Given the description of an element on the screen output the (x, y) to click on. 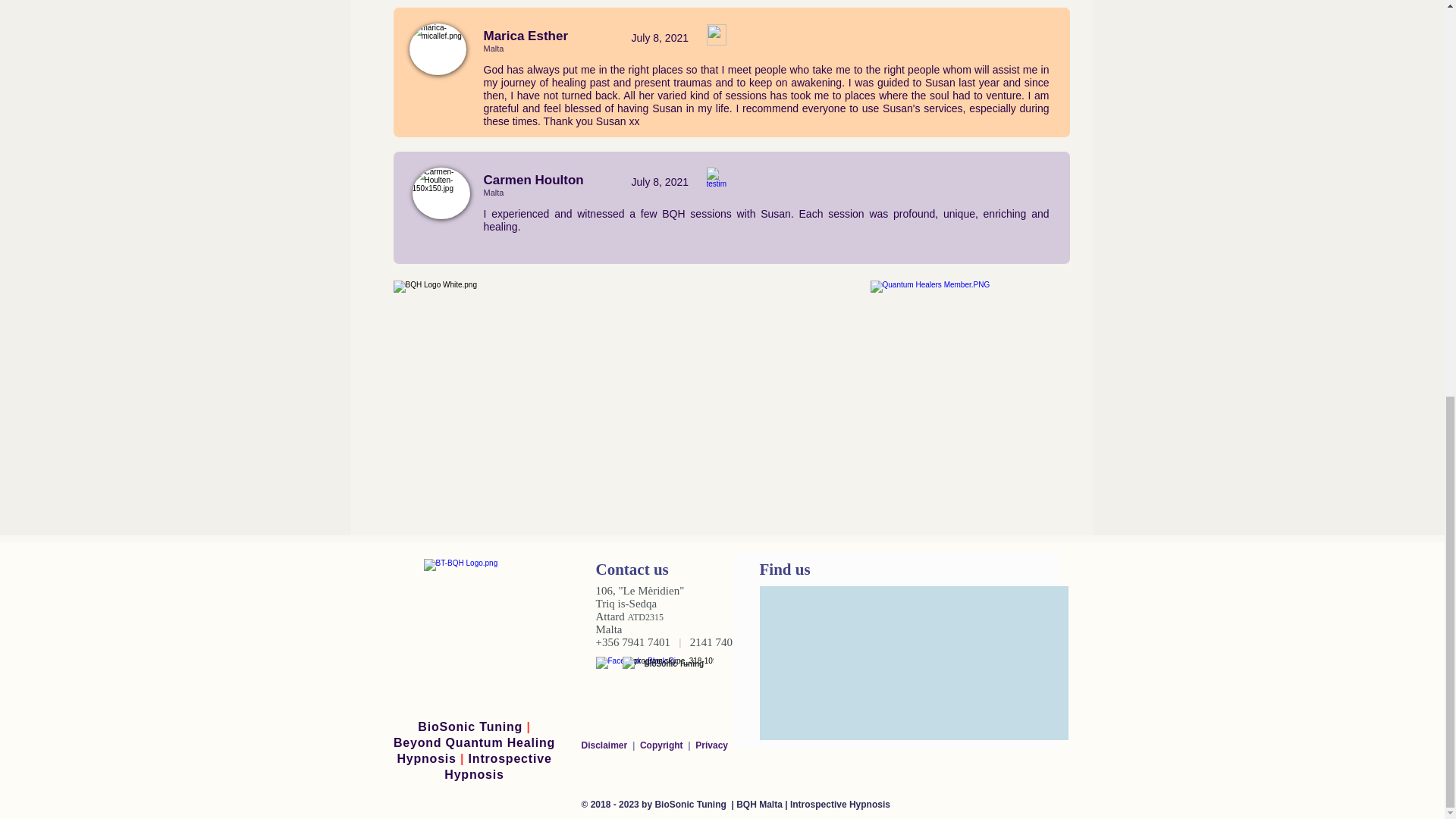
Copyright  (662, 745)
Privacy (711, 745)
Disclaimer  (605, 745)
